Given the description of an element on the screen output the (x, y) to click on. 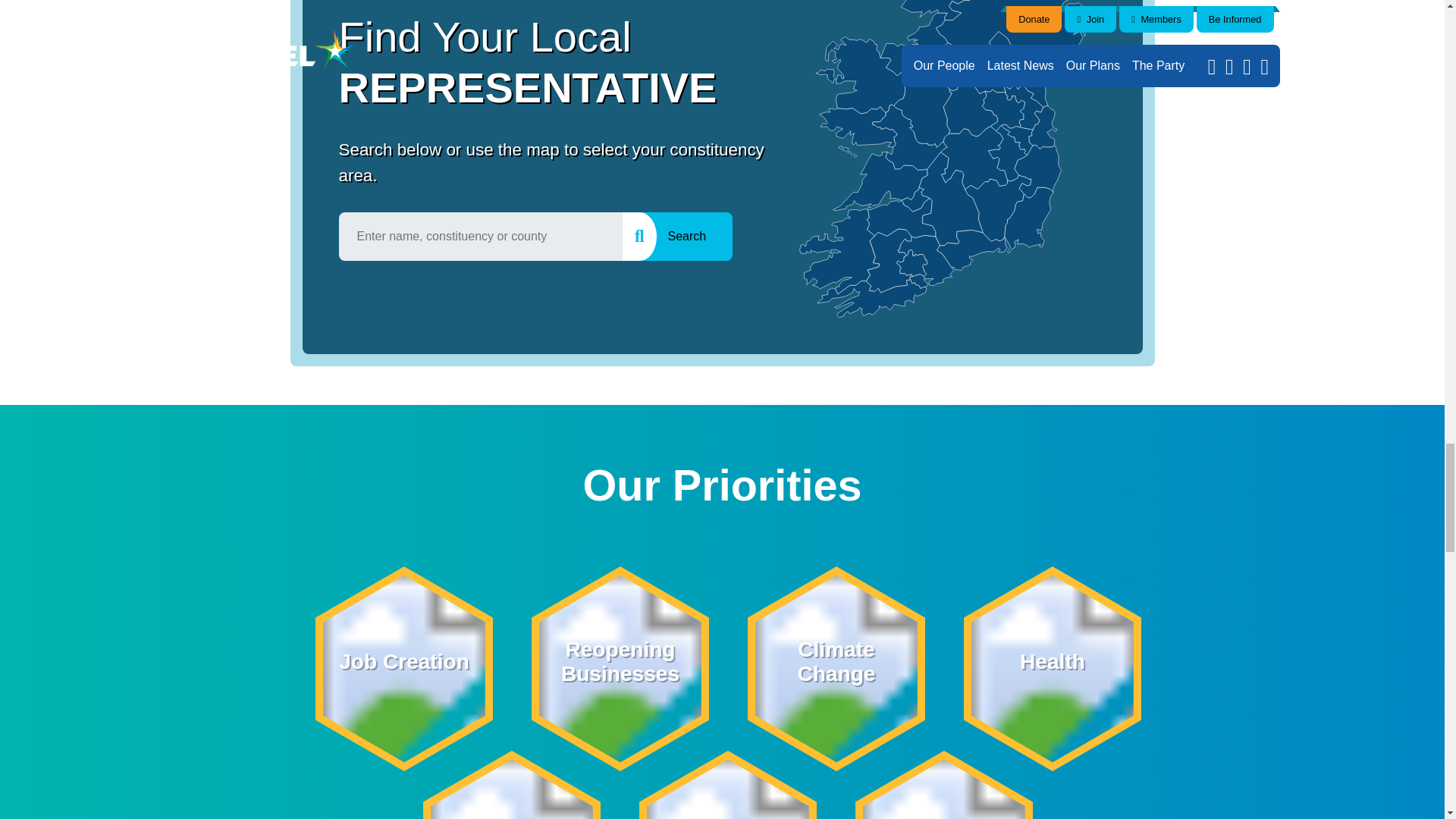
Laois Offaly (973, 157)
Limerick City (916, 199)
Carlow-Kilkenny (998, 208)
Health (1051, 668)
Longford-Westmeath (970, 105)
Galway East (909, 137)
Donegal (952, 10)
Search (687, 236)
Job Creation (403, 668)
Cork East (836, 668)
Clare (925, 260)
Cork South West (879, 180)
Kerry (619, 668)
